Given the description of an element on the screen output the (x, y) to click on. 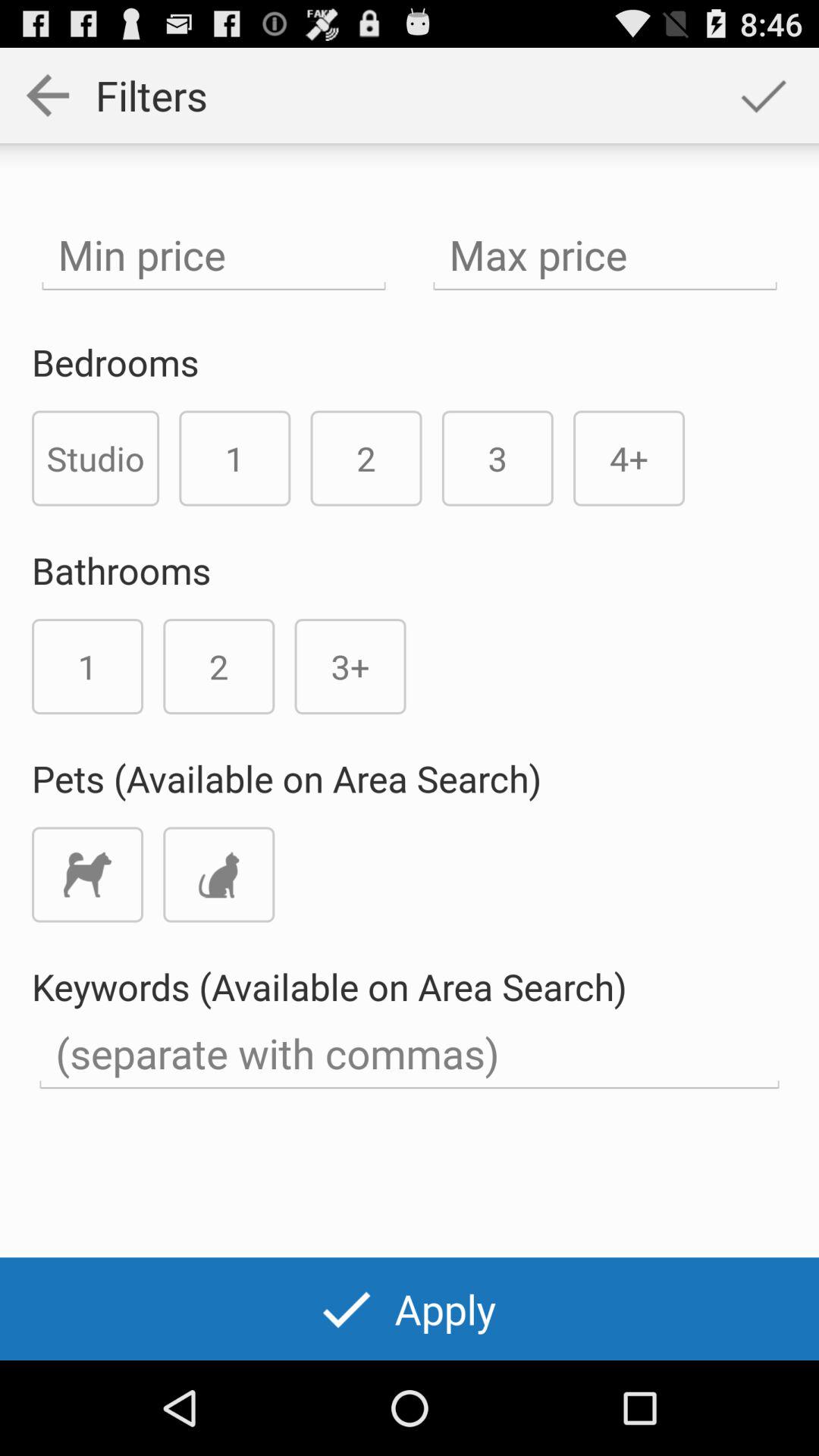
launch the icon above the keywords available on (628, 458)
